Given the description of an element on the screen output the (x, y) to click on. 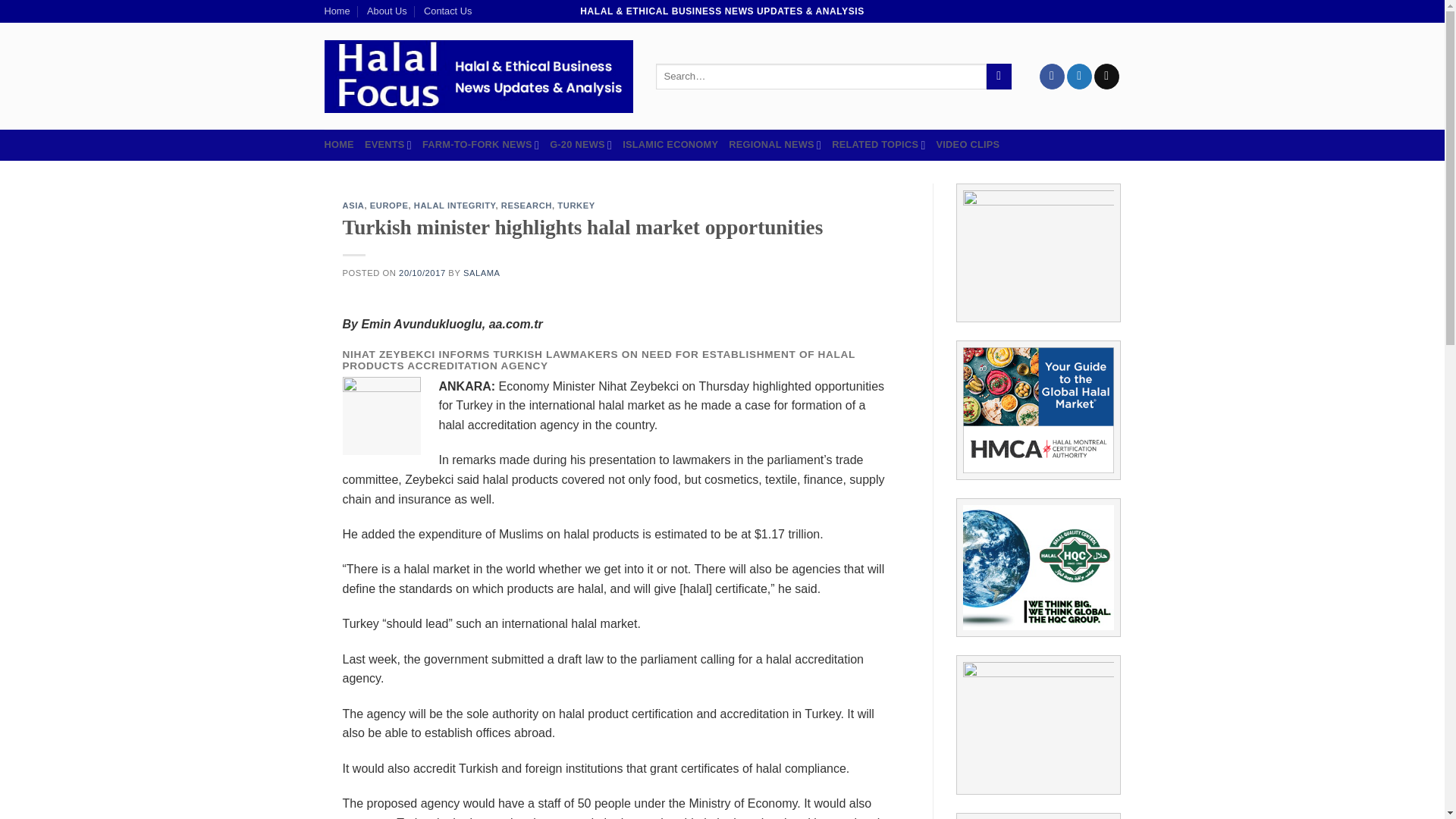
HOME (338, 144)
Contact Us (447, 11)
G-20 NEWS (580, 144)
EVENTS (388, 144)
About Us (386, 11)
FARM-TO-FORK NEWS (480, 144)
Home (337, 11)
Halal Montreal (1037, 409)
